Given the description of an element on the screen output the (x, y) to click on. 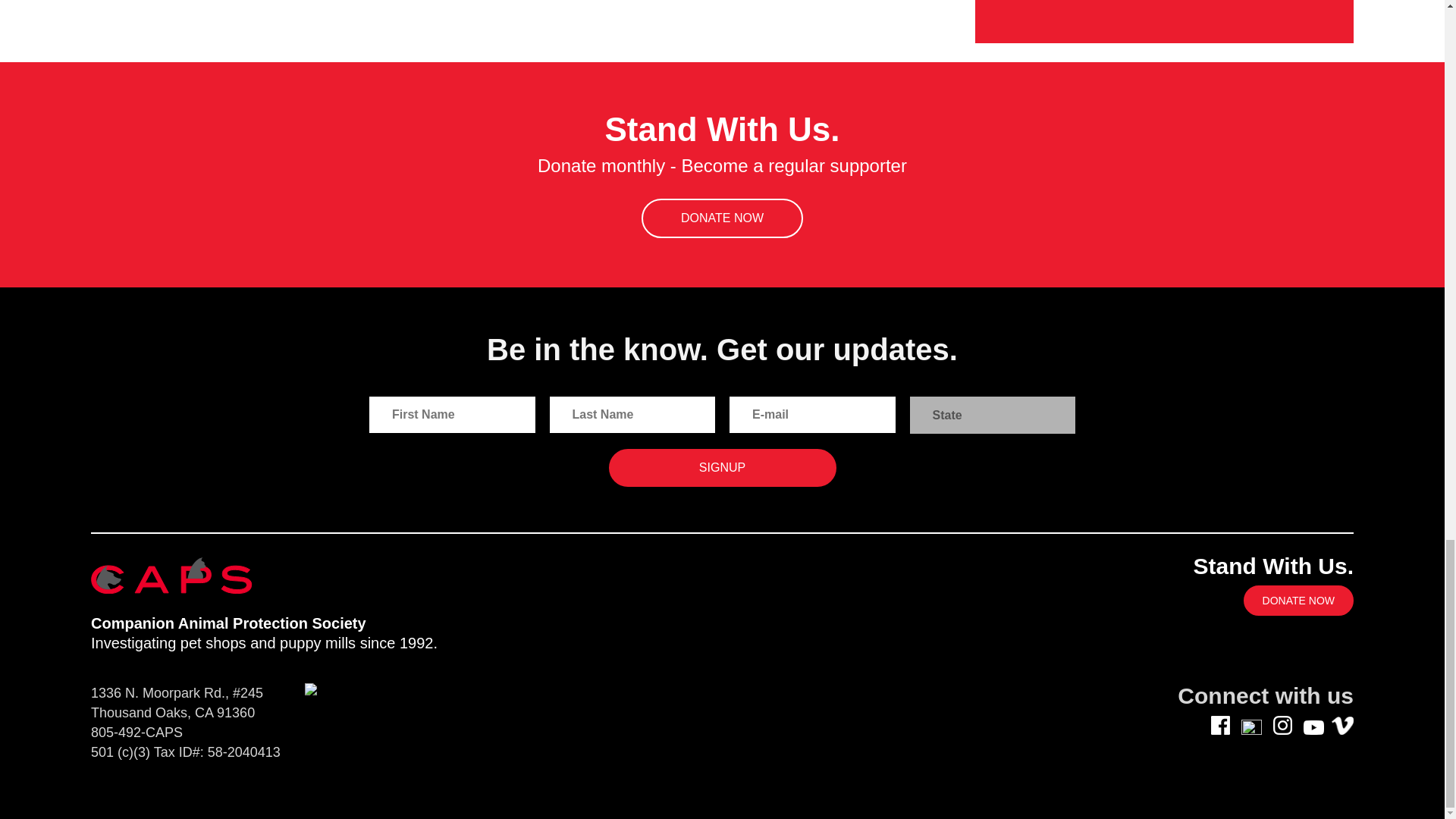
Signup (721, 467)
